Given the description of an element on the screen output the (x, y) to click on. 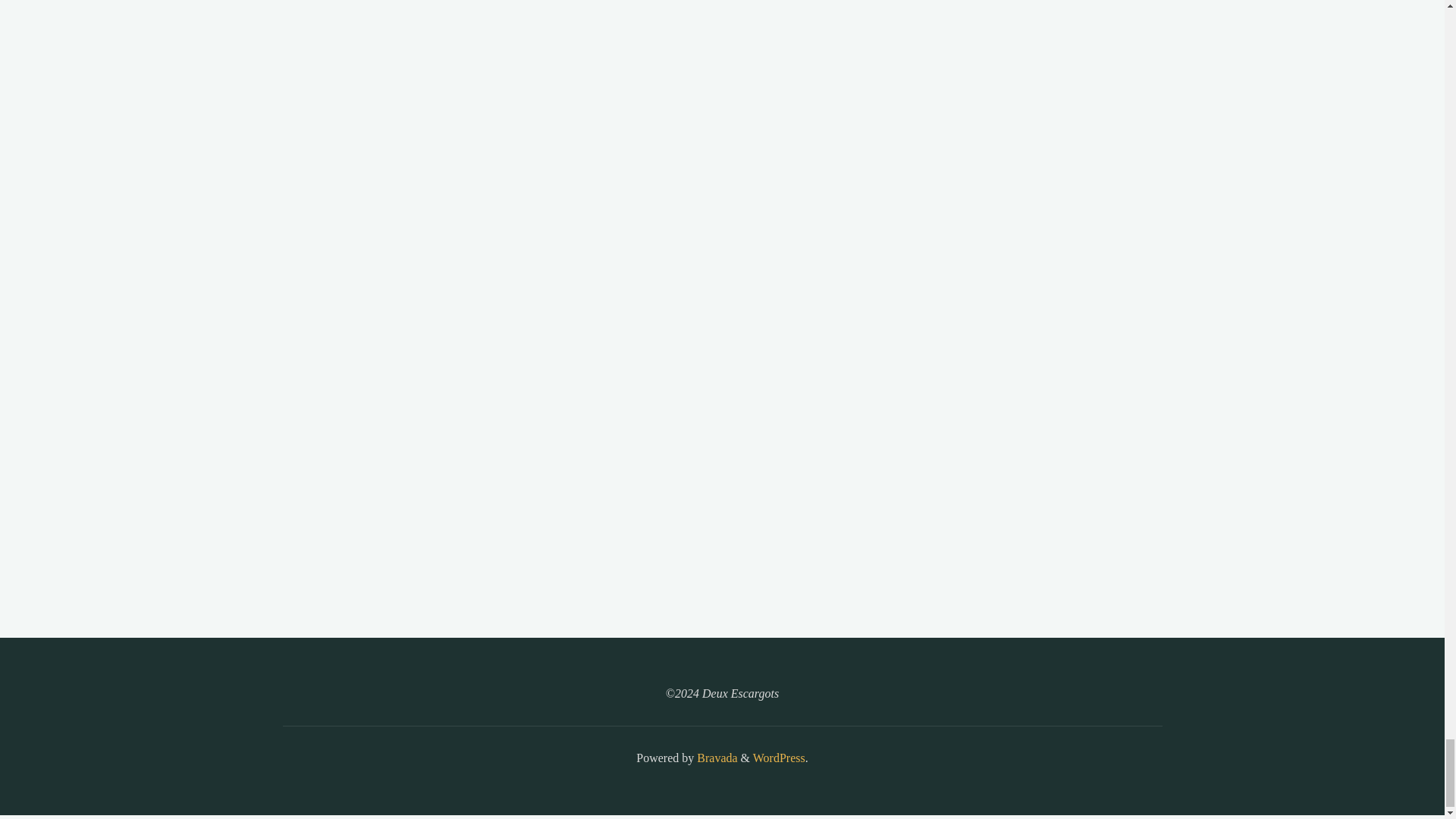
Semantic Personal Publishing Platform (778, 757)
Bravada WordPress Theme by Cryout Creations (715, 757)
